Given the description of an element on the screen output the (x, y) to click on. 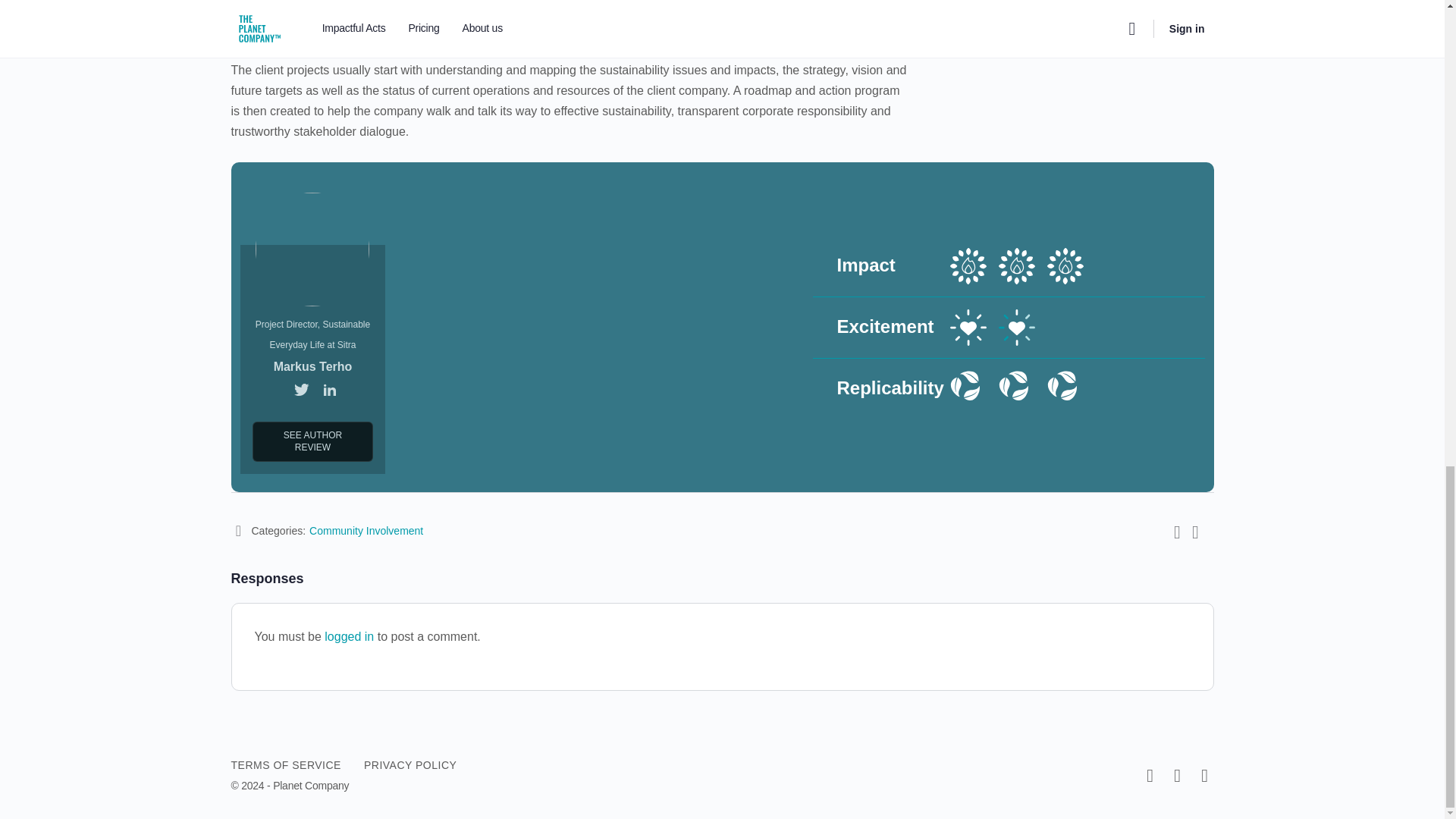
PRIVACY POLICY (410, 765)
logged in (349, 635)
TERMS OF SERVICE (285, 765)
Community Involvement (365, 530)
SEE AUTHOR REVIEW (311, 441)
